Given the description of an element on the screen output the (x, y) to click on. 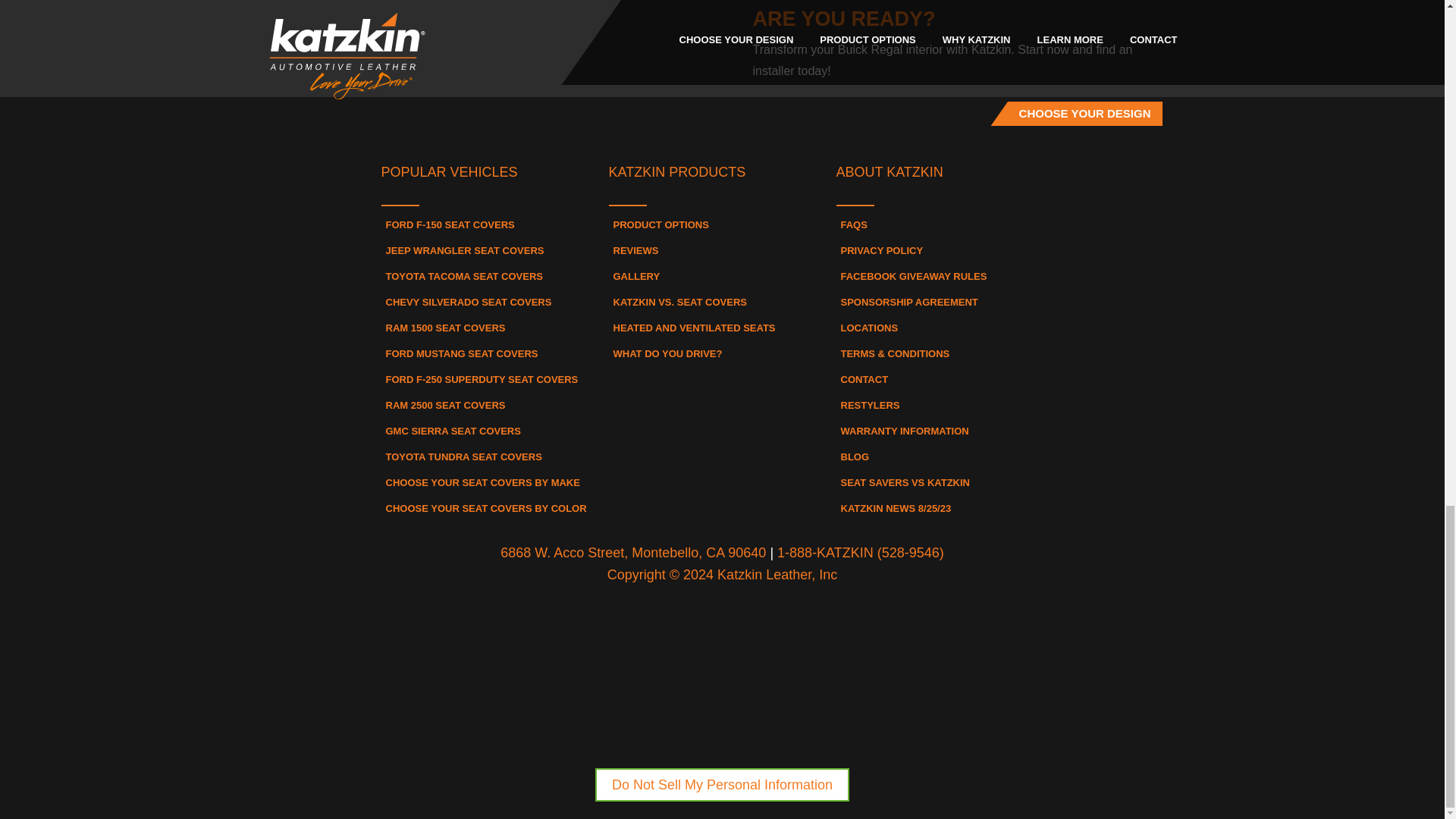
Facebook (638, 125)
Youtube (804, 125)
Instagram (721, 125)
